Given the description of an element on the screen output the (x, y) to click on. 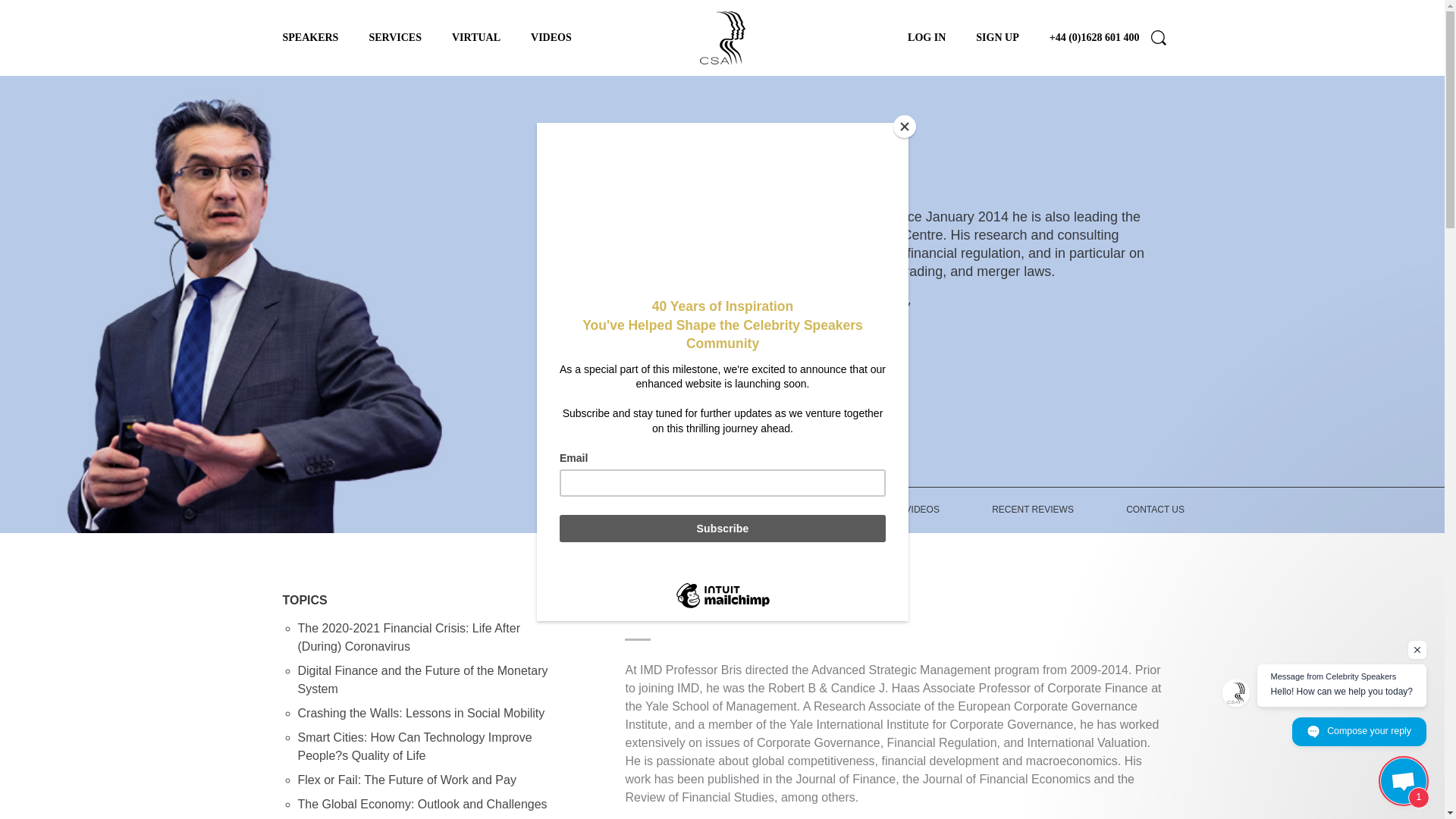
IN DETAIL (675, 509)
ADD TO MY SHORTLIST (696, 347)
Search (1158, 37)
VIDEOS (551, 37)
CONTACT US (1155, 509)
LOG IN (925, 37)
SERVICES (395, 37)
SIGN UP (996, 37)
VIRTUAL (475, 37)
SPEAKERS (309, 37)
RECENT REVIEWS (1033, 509)
WHAT HE OFFERS YOU (801, 509)
VIDEOS (922, 509)
